Given the description of an element on the screen output the (x, y) to click on. 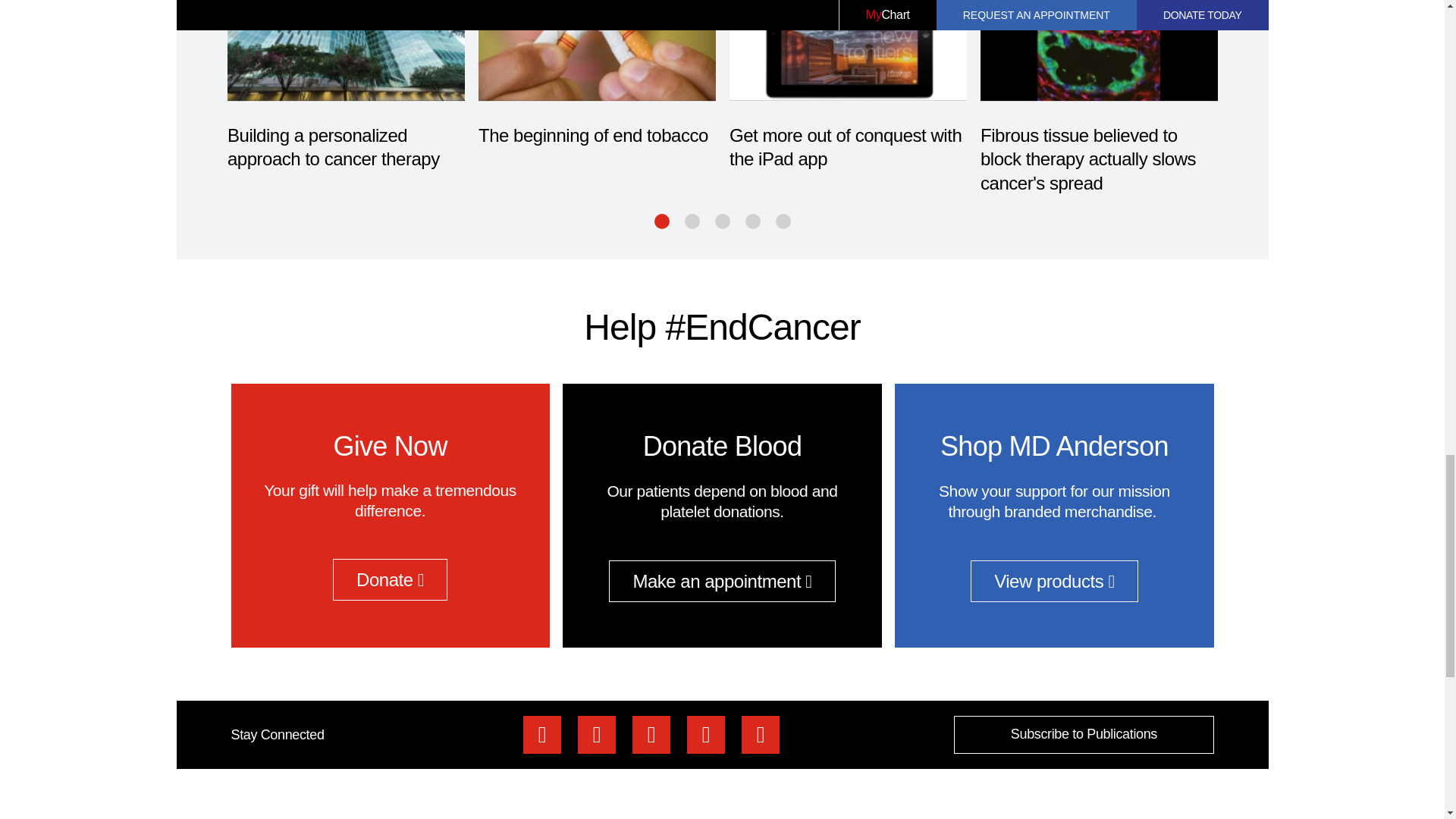
Slide 1 (661, 221)
